Given the description of an element on the screen output the (x, y) to click on. 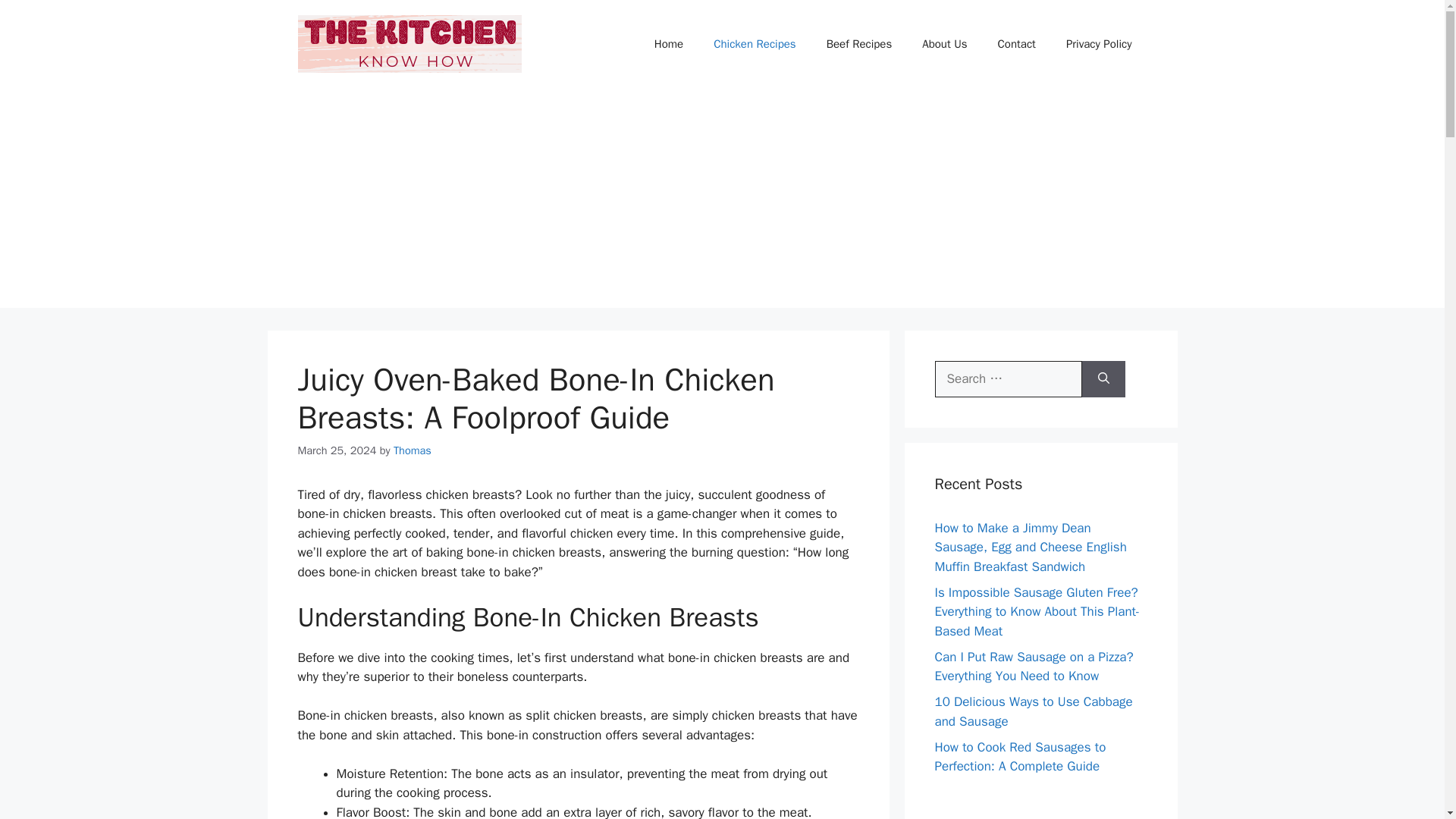
Chicken Recipes (754, 43)
About Us (944, 43)
Privacy Policy (1099, 43)
Advertisement (1040, 801)
Home (668, 43)
Beef Recipes (858, 43)
How to Cook Red Sausages to Perfection: A Complete Guide (1019, 755)
Contact (1016, 43)
Thomas (411, 450)
10 Delicious Ways to Use Cabbage and Sausage (1033, 711)
Search for: (1007, 379)
